Given the description of an element on the screen output the (x, y) to click on. 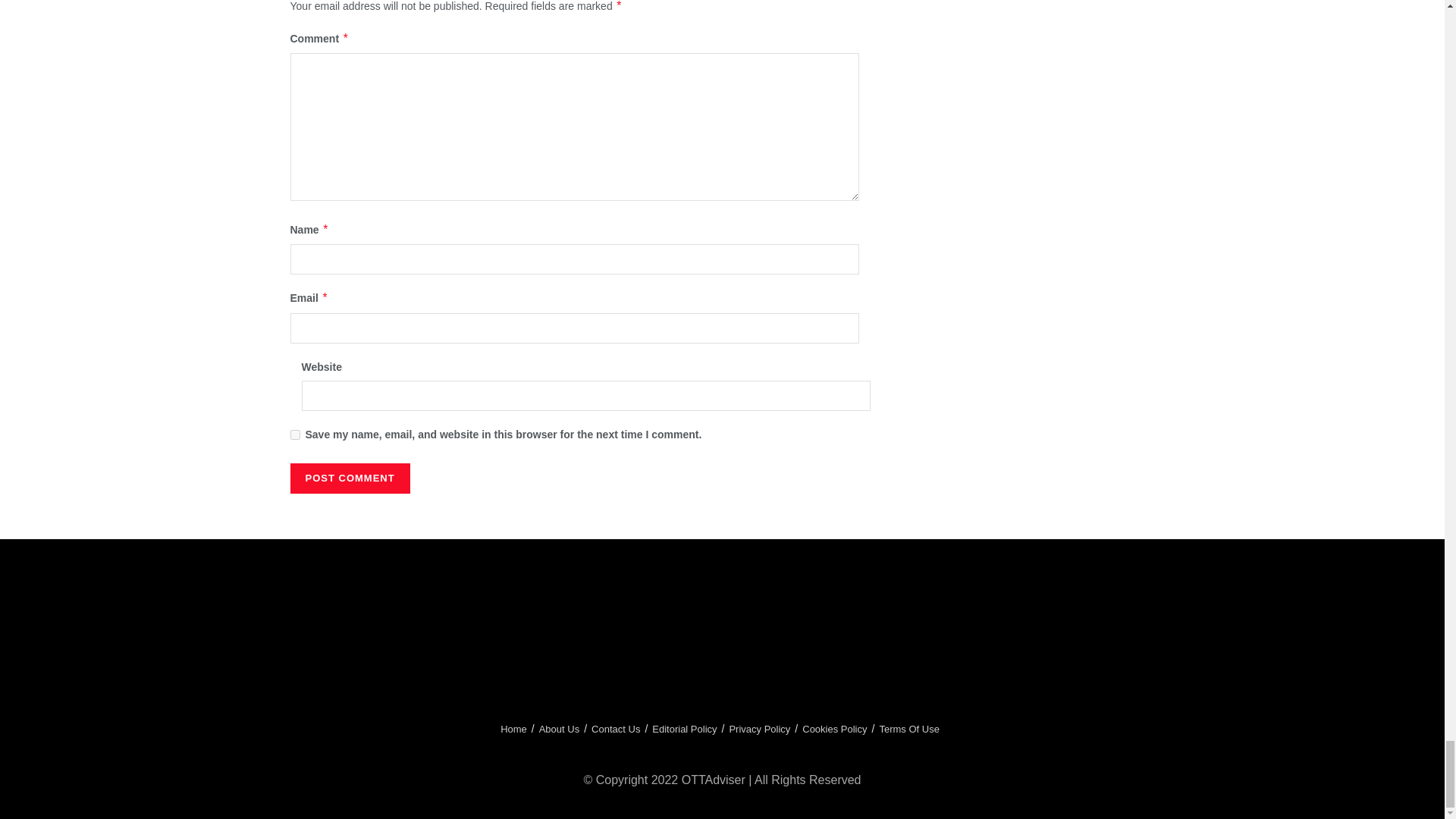
Post Comment (349, 478)
yes (294, 434)
